Given the description of an element on the screen output the (x, y) to click on. 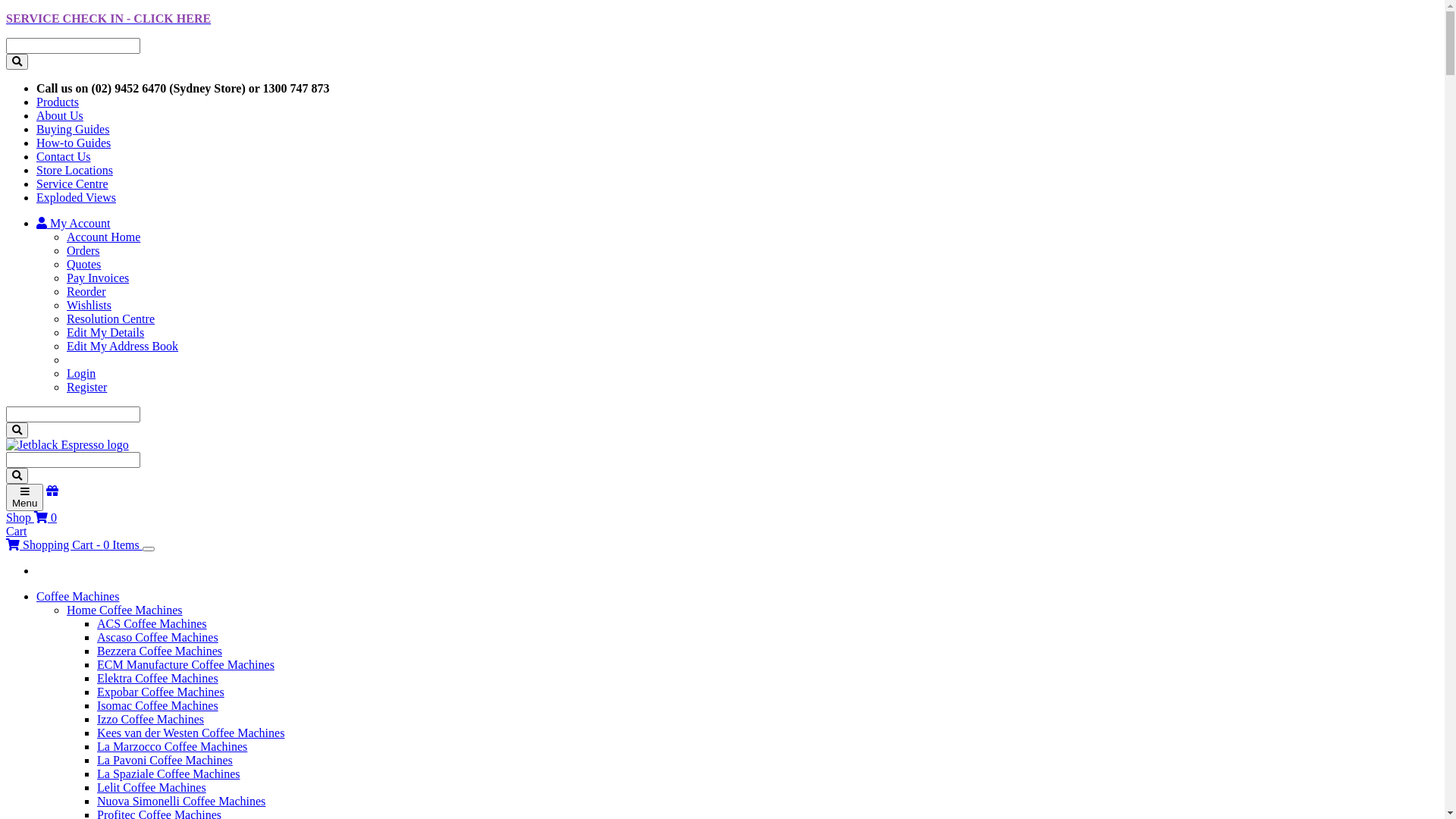
Edit My Address Book Element type: text (122, 345)
Search Element type: text (17, 430)
My Account Element type: text (73, 222)
Kees van der Westen Coffee Machines Element type: text (190, 732)
Nuova Simonelli Coffee Machines Element type: text (181, 800)
Search Element type: text (17, 61)
Ascaso Coffee Machines Element type: text (157, 636)
Home Coffee Machines Element type: text (124, 609)
0
Cart Element type: text (31, 524)
Edit My Details Element type: text (105, 332)
Wishlists Element type: text (88, 304)
Exploded Views Element type: text (76, 197)
La Pavoni Coffee Machines Element type: text (164, 759)
Skip to main content Element type: text (5, 37)
ACS Coffee Machines Element type: text (152, 623)
Shop Element type: text (32, 504)
Quotes Element type: text (83, 263)
Resolution Centre Element type: text (110, 318)
Bezzera Coffee Machines Element type: text (159, 650)
Lelit Coffee Machines Element type: text (151, 787)
Login Element type: text (80, 373)
ECM Manufacture Coffee Machines Element type: text (185, 664)
Products Element type: text (57, 101)
Pay Invoices Element type: text (97, 277)
Contact Us Element type: text (63, 156)
Elektra Coffee Machines Element type: text (157, 677)
Store Locations Element type: text (74, 169)
Izzo Coffee Machines Element type: text (150, 718)
Menu Element type: text (24, 497)
Shopping Cart - 0 Items Element type: text (74, 544)
Account Home Element type: text (103, 236)
Register Element type: text (86, 386)
La Spaziale Coffee Machines Element type: text (168, 773)
Expobar Coffee Machines Element type: text (160, 691)
Isomac Coffee Machines Element type: text (157, 705)
Buying Guides Element type: text (72, 128)
Toggle Dropdown Element type: text (148, 548)
Reorder Element type: text (86, 291)
Coffee Machines Element type: text (77, 595)
Orders Element type: text (83, 250)
La Marzocco Coffee Machines Element type: text (172, 746)
Search Element type: text (17, 475)
Service Centre Element type: text (72, 183)
How-to Guides Element type: text (73, 142)
About Us Element type: text (59, 115)
SERVICE CHECK IN - CLICK HERE Element type: text (108, 18)
Jetblack Espresso Element type: hover (67, 444)
